Given the description of an element on the screen output the (x, y) to click on. 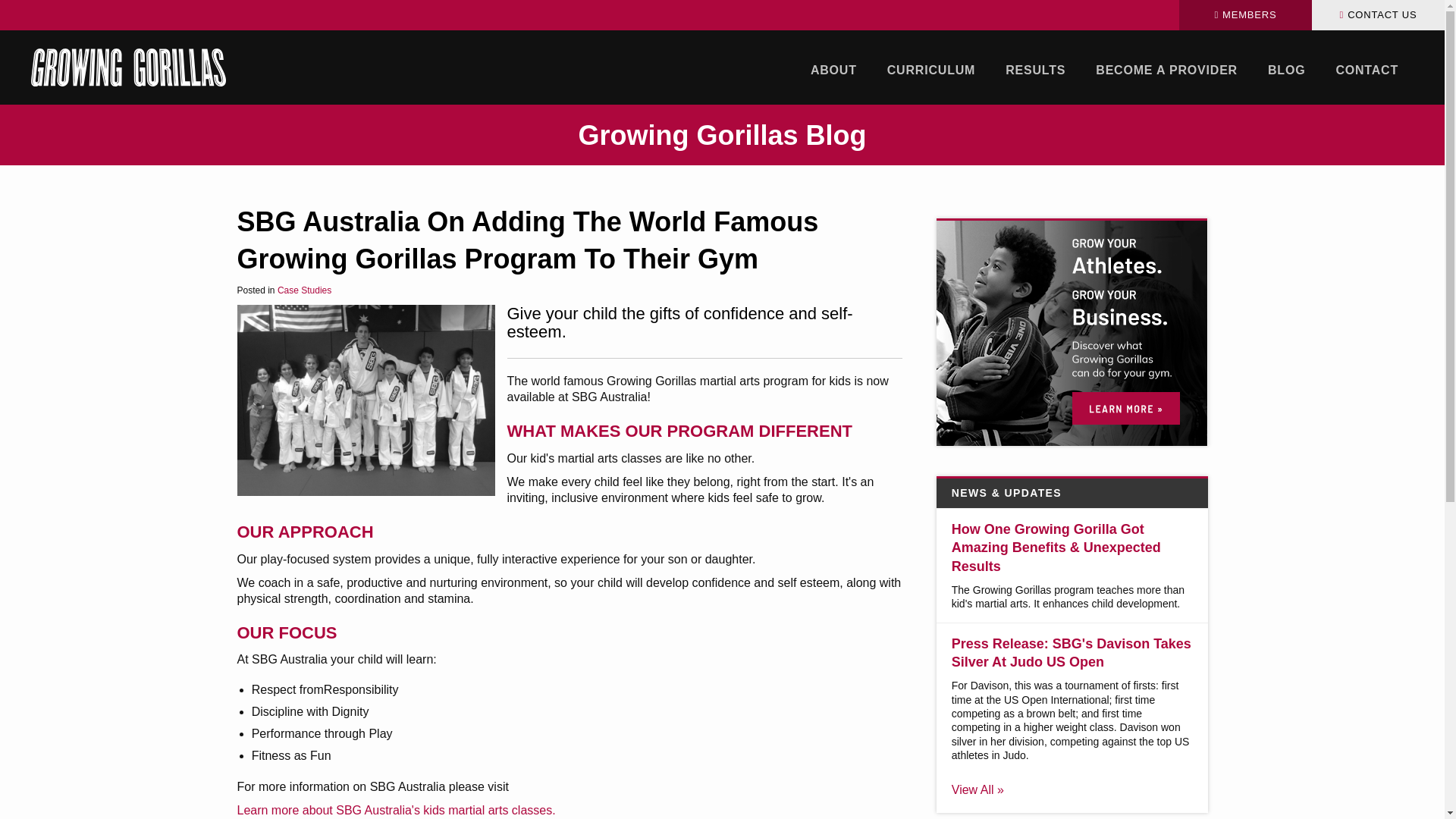
BECOME A PROVIDER (1166, 70)
CURRICULUM (931, 70)
RESULTS (1035, 70)
MEMBERS (1245, 15)
ABOUT (833, 70)
